Given the description of an element on the screen output the (x, y) to click on. 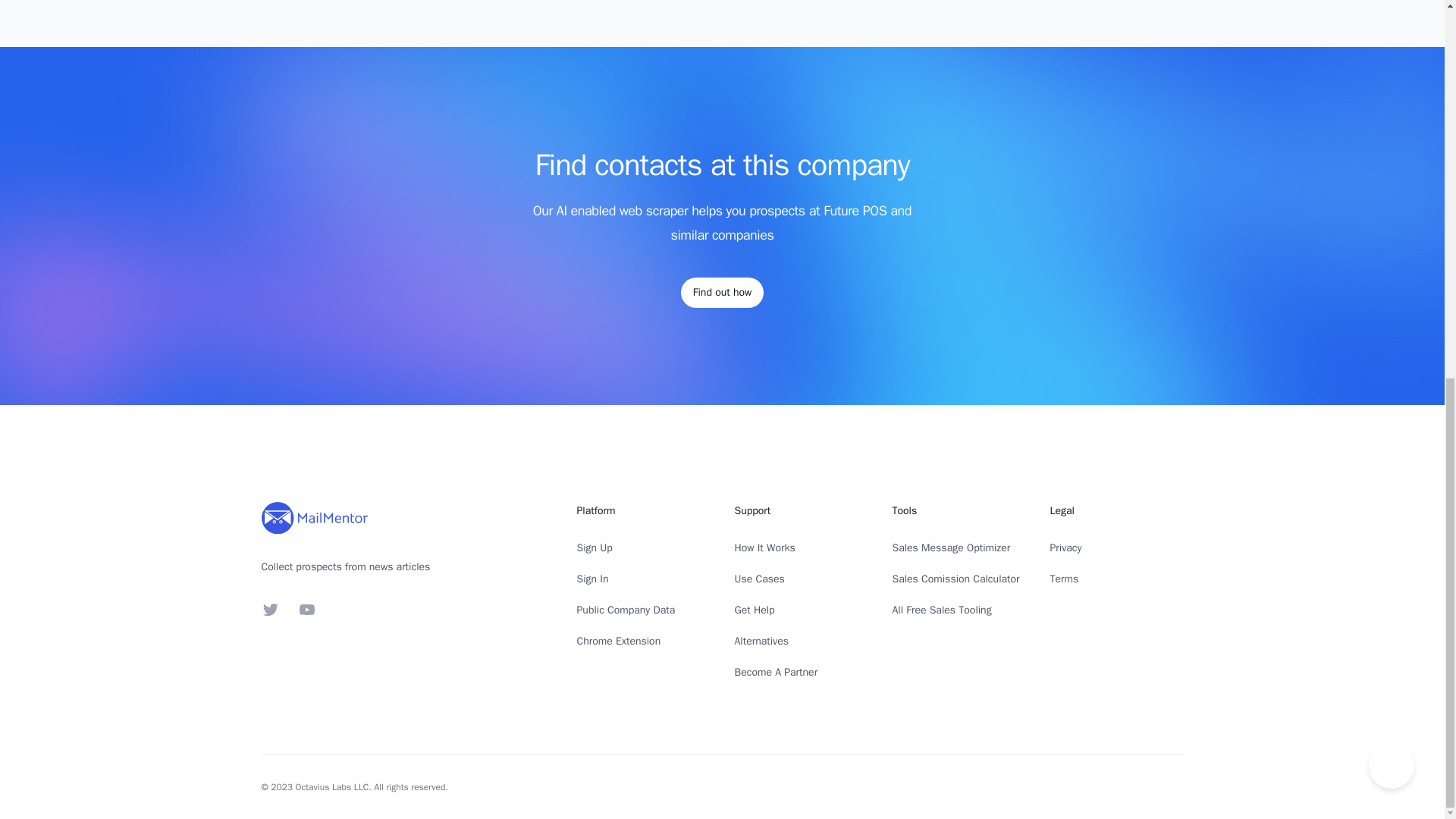
Find out how (721, 292)
Privacy (1065, 547)
Octavius Labs LLC (332, 787)
Become A Partner (774, 671)
How It Works (763, 547)
Chrome Extension (618, 640)
Alternatives (761, 640)
Sales Comission Calculator (955, 578)
Twitter (269, 609)
Sign In (592, 578)
Public Company Data (625, 609)
All Free Sales Tooling (941, 609)
Sign Up (593, 547)
Terms (1063, 578)
Sales Message Optimizer (950, 547)
